Given the description of an element on the screen output the (x, y) to click on. 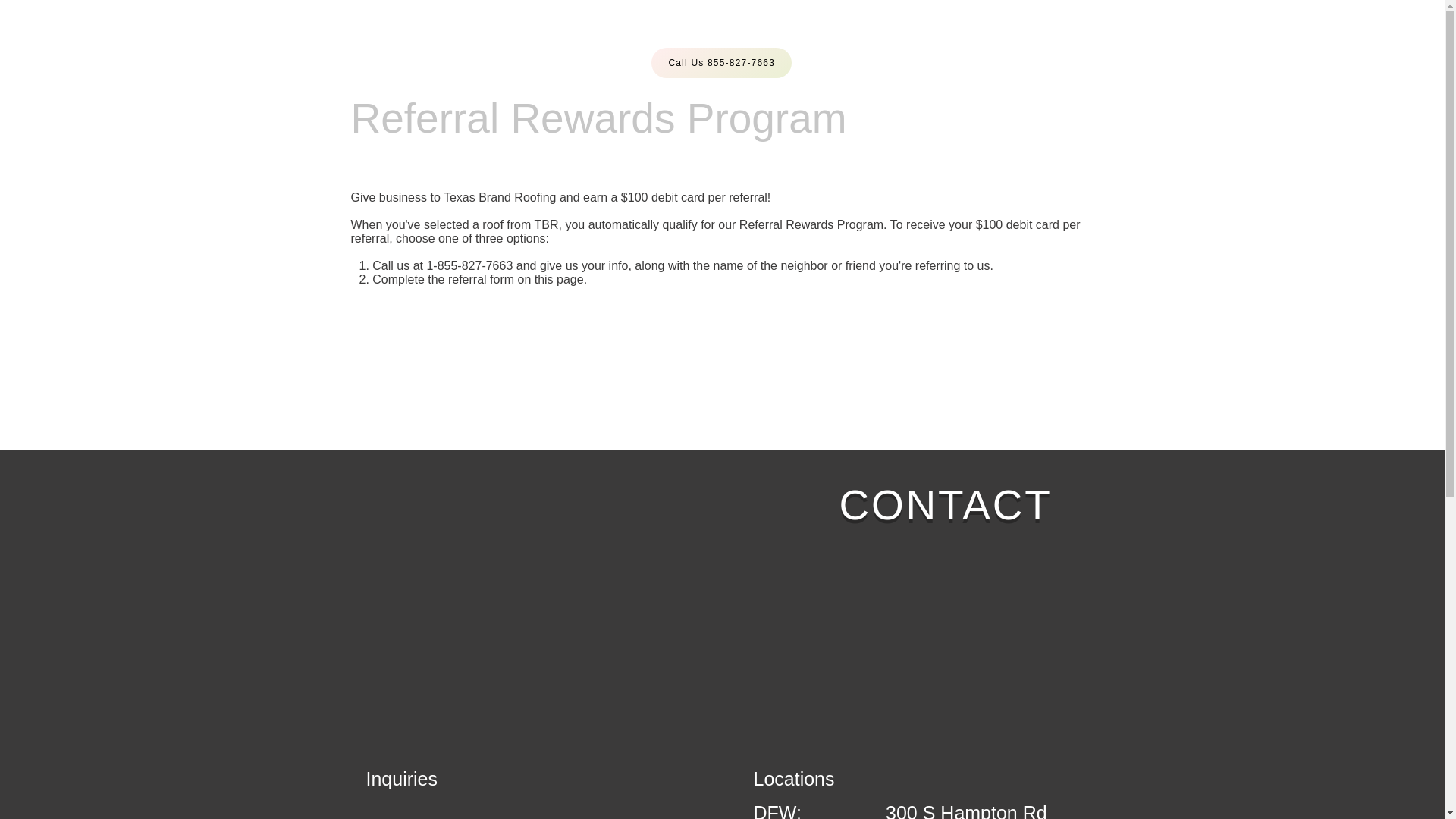
REFERRAL PROGRAMS (828, 29)
PRODUCTS (678, 29)
Call Us 855-827-7663 (720, 62)
ABOUT (960, 29)
HOME (382, 29)
SERVICES (469, 29)
CONTACT (1048, 29)
PROJECTS (571, 29)
